Given the description of an element on the screen output the (x, y) to click on. 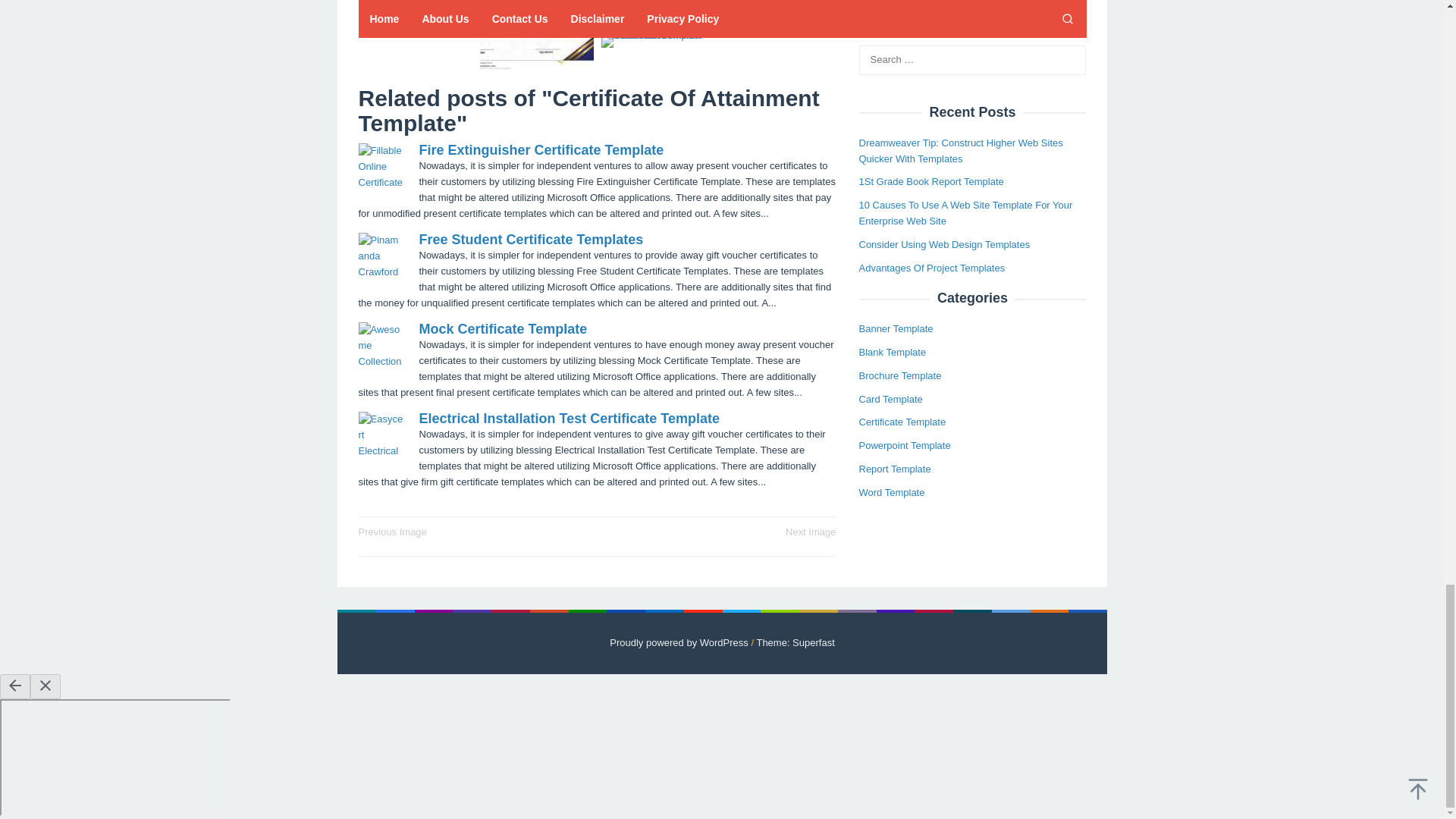
Mock Certificate Template (502, 328)
Fire Extinguisher Certificate Template (541, 150)
Electrical Installation Test Certificate Template (569, 418)
Free Student Certificate Templates (531, 239)
